Given the description of an element on the screen output the (x, y) to click on. 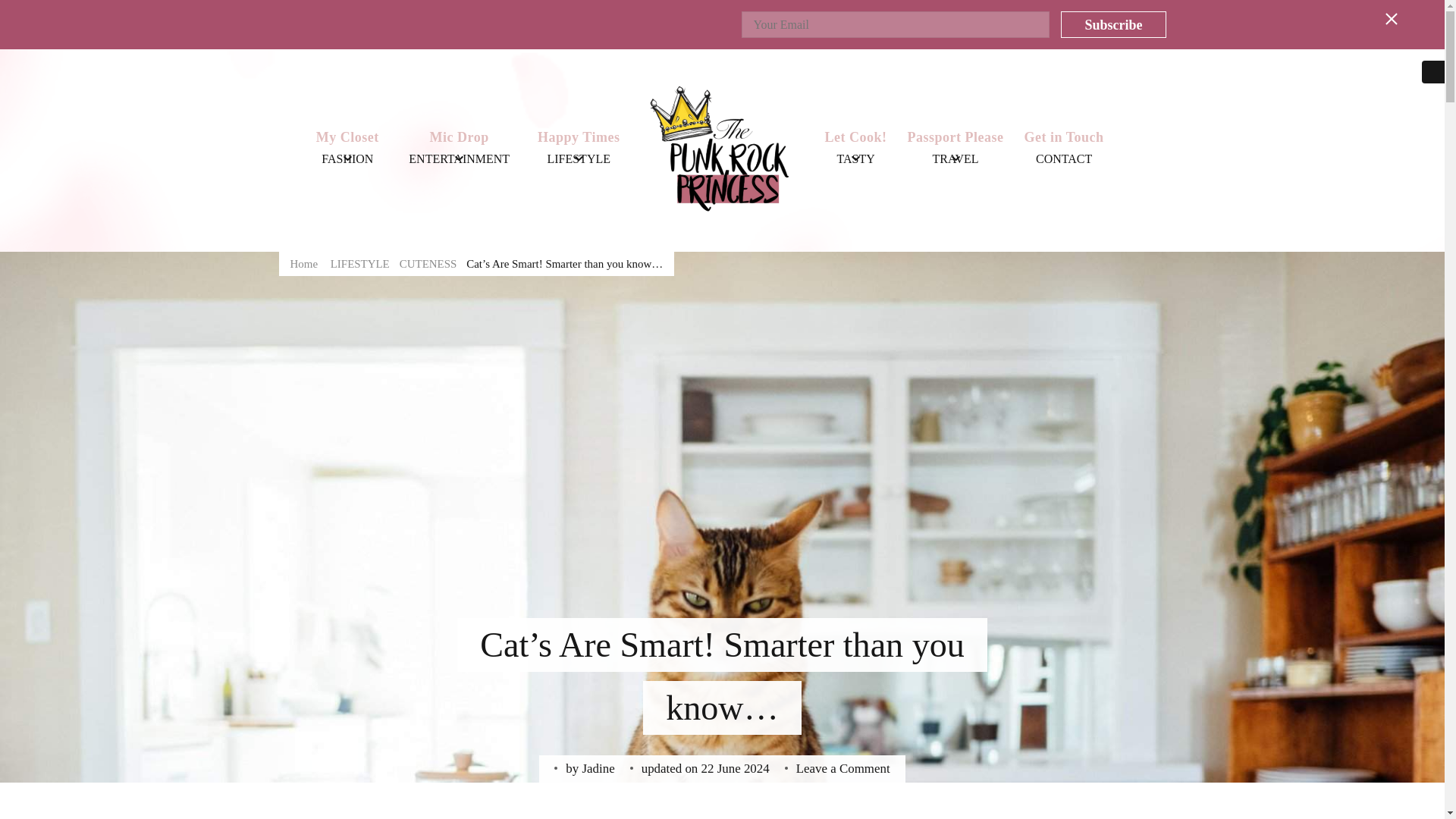
ENTERTAINMENT (458, 159)
The Punk Rock Princess (903, 261)
CONTACT (1063, 159)
Subscribe (1113, 24)
Subscribe (1113, 24)
TASTY (855, 159)
TRAVEL (955, 159)
FASHION (347, 159)
LIFESTYLE (577, 159)
